Given the description of an element on the screen output the (x, y) to click on. 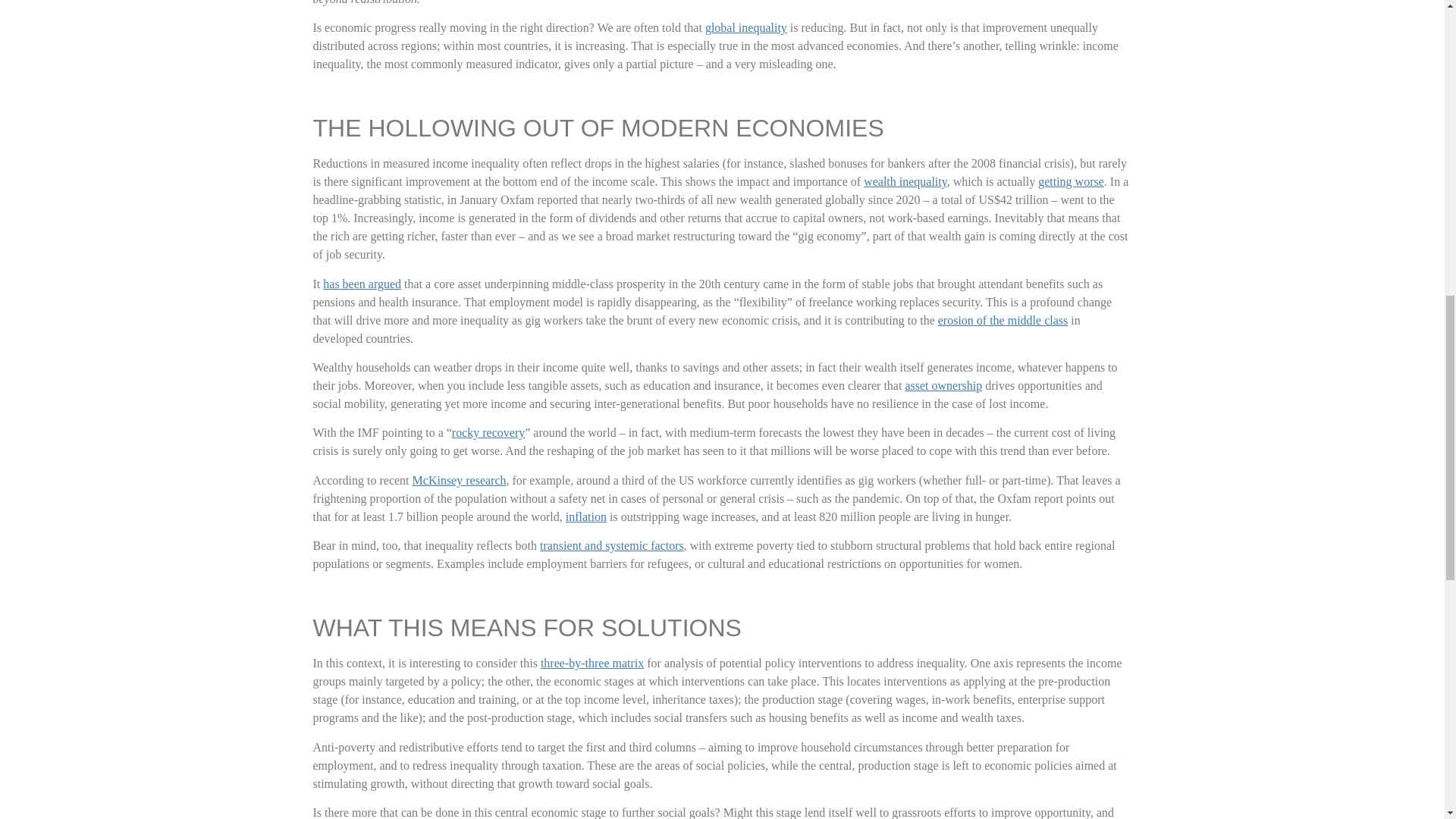
McKinsey research (459, 480)
wealth inequality (905, 181)
has been argued (362, 283)
inflation (586, 516)
three-by-three matrix (591, 662)
rocky recovery (487, 431)
transient and systemic factors (612, 545)
global inequality (745, 27)
getting worse (1070, 181)
asset ownership (942, 385)
